Given the description of an element on the screen output the (x, y) to click on. 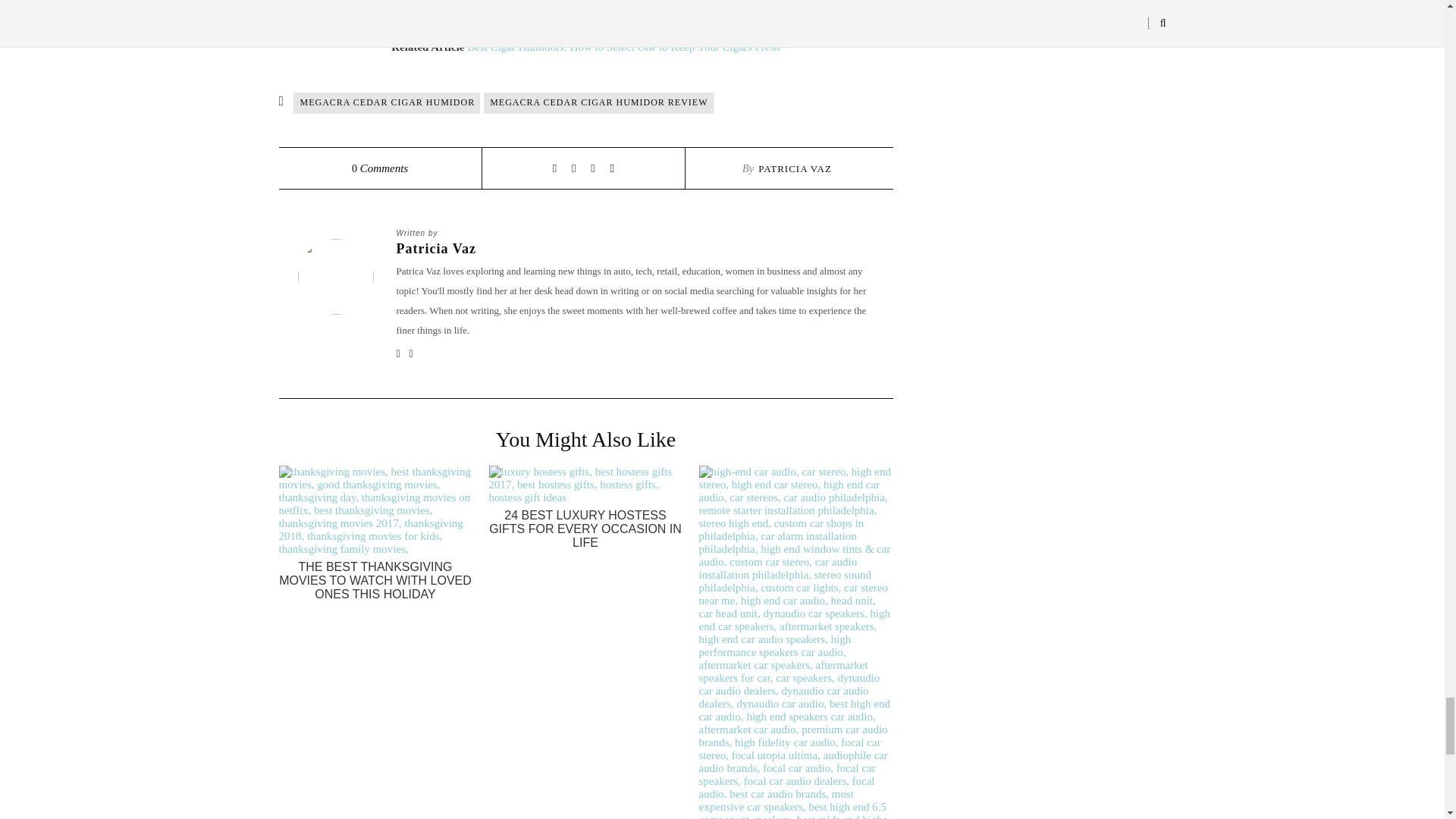
Posts by Patricia Vaz (634, 248)
Posts by Patricia Vaz (794, 168)
